Given the description of an element on the screen output the (x, y) to click on. 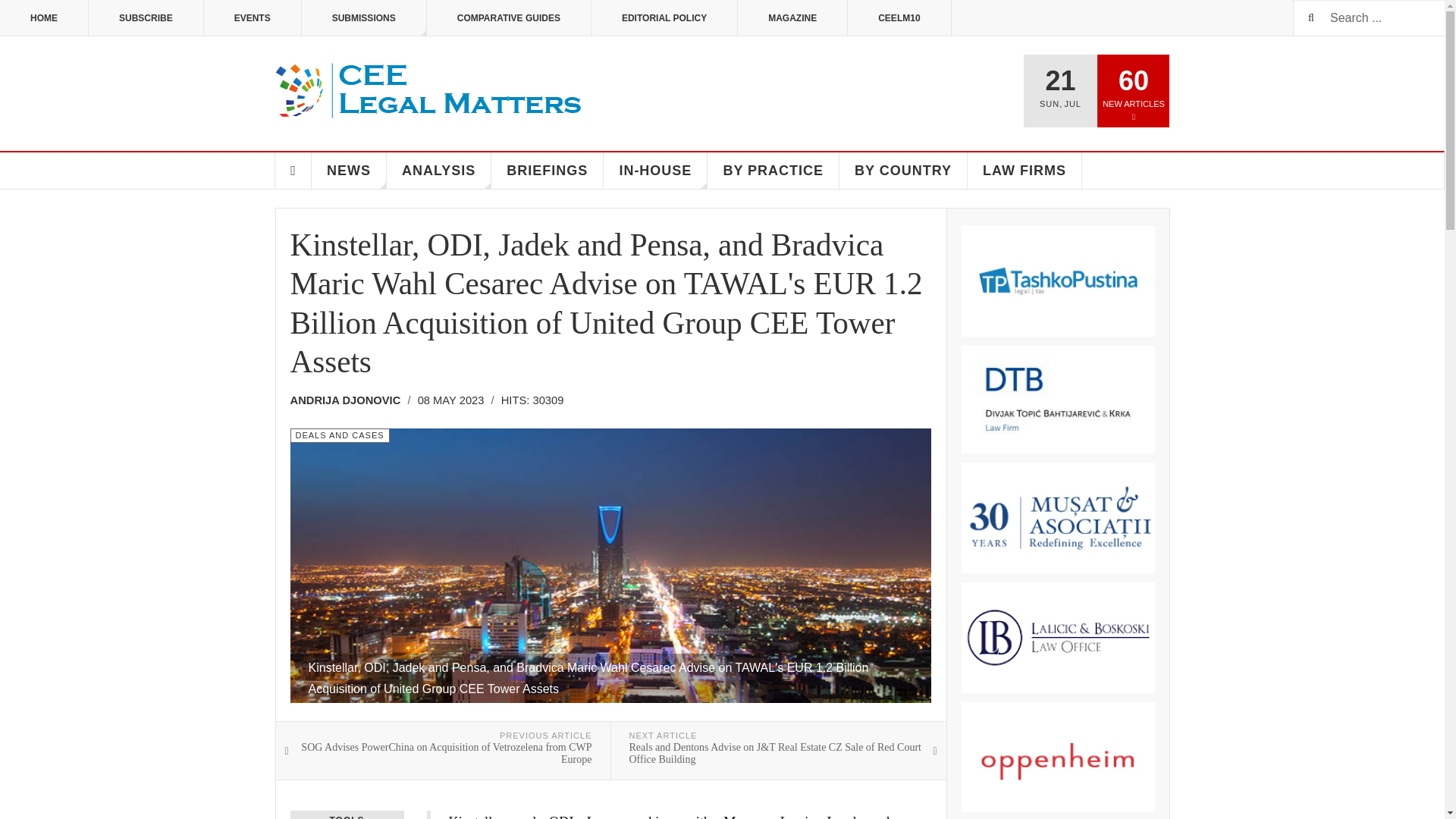
EVENTS (252, 18)
CEELM10 (898, 18)
MAGAZINE (792, 18)
HOME (293, 170)
SUBSCRIBE (145, 18)
COMPARATIVE GUIDES (508, 18)
CEE Legal Matters (429, 90)
SUBMISSIONS (363, 18)
NEWS (349, 170)
HOME (44, 18)
EDITORIAL POLICY (664, 18)
